Given the description of an element on the screen output the (x, y) to click on. 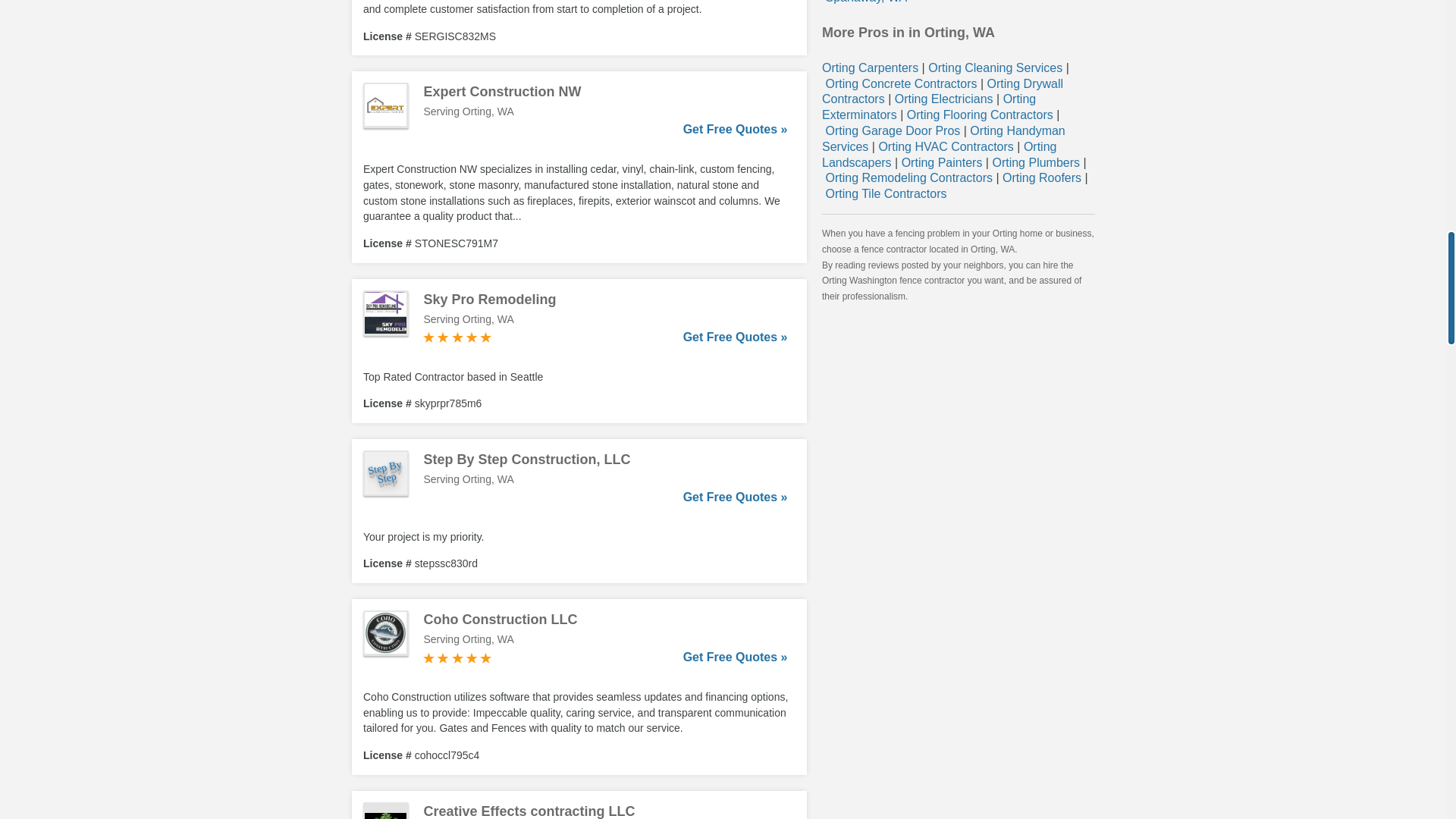
5 star rating (457, 658)
5 star rating (457, 336)
